Given the description of an element on the screen output the (x, y) to click on. 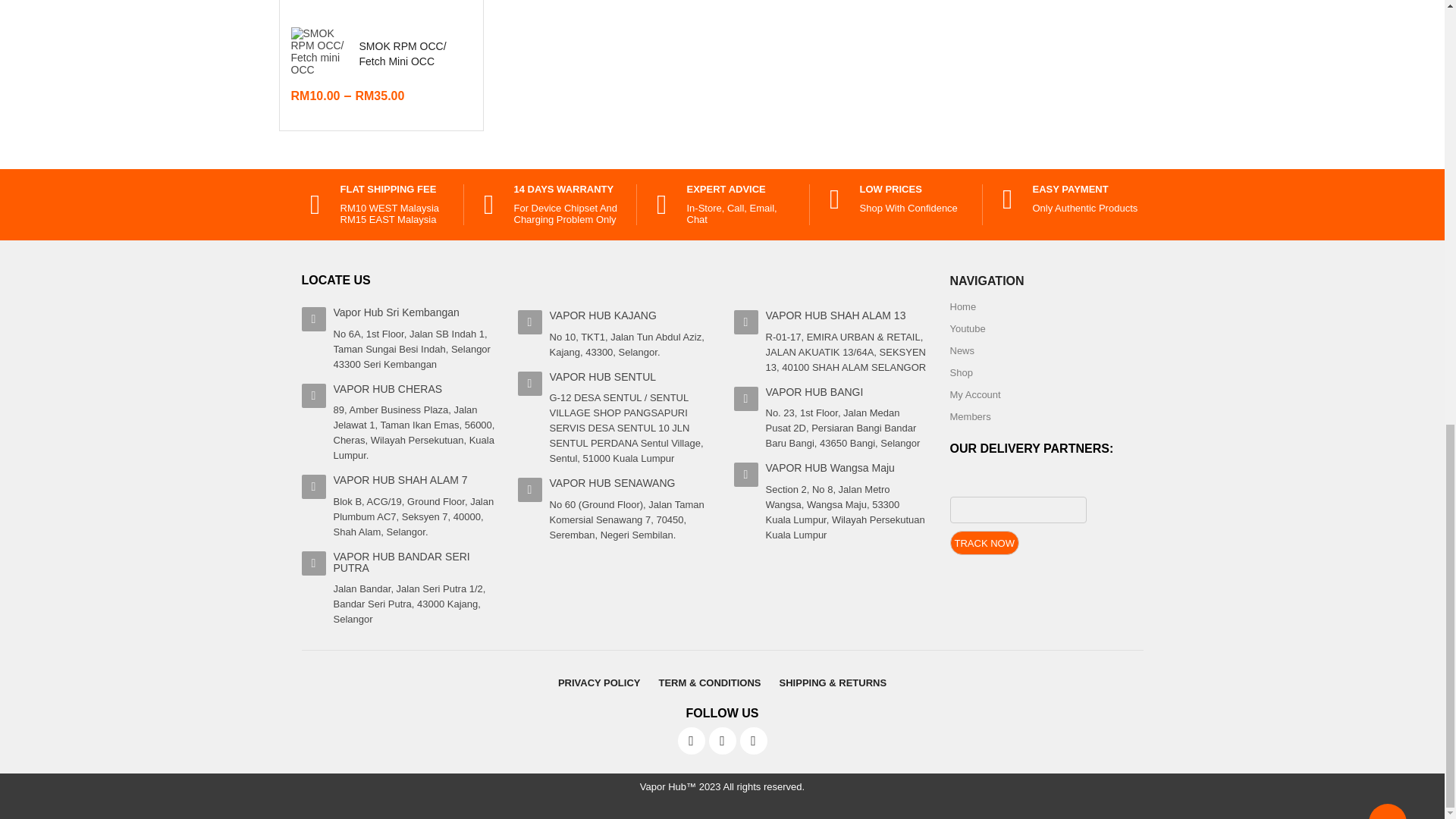
TRACK NOW (983, 542)
